Given the description of an element on the screen output the (x, y) to click on. 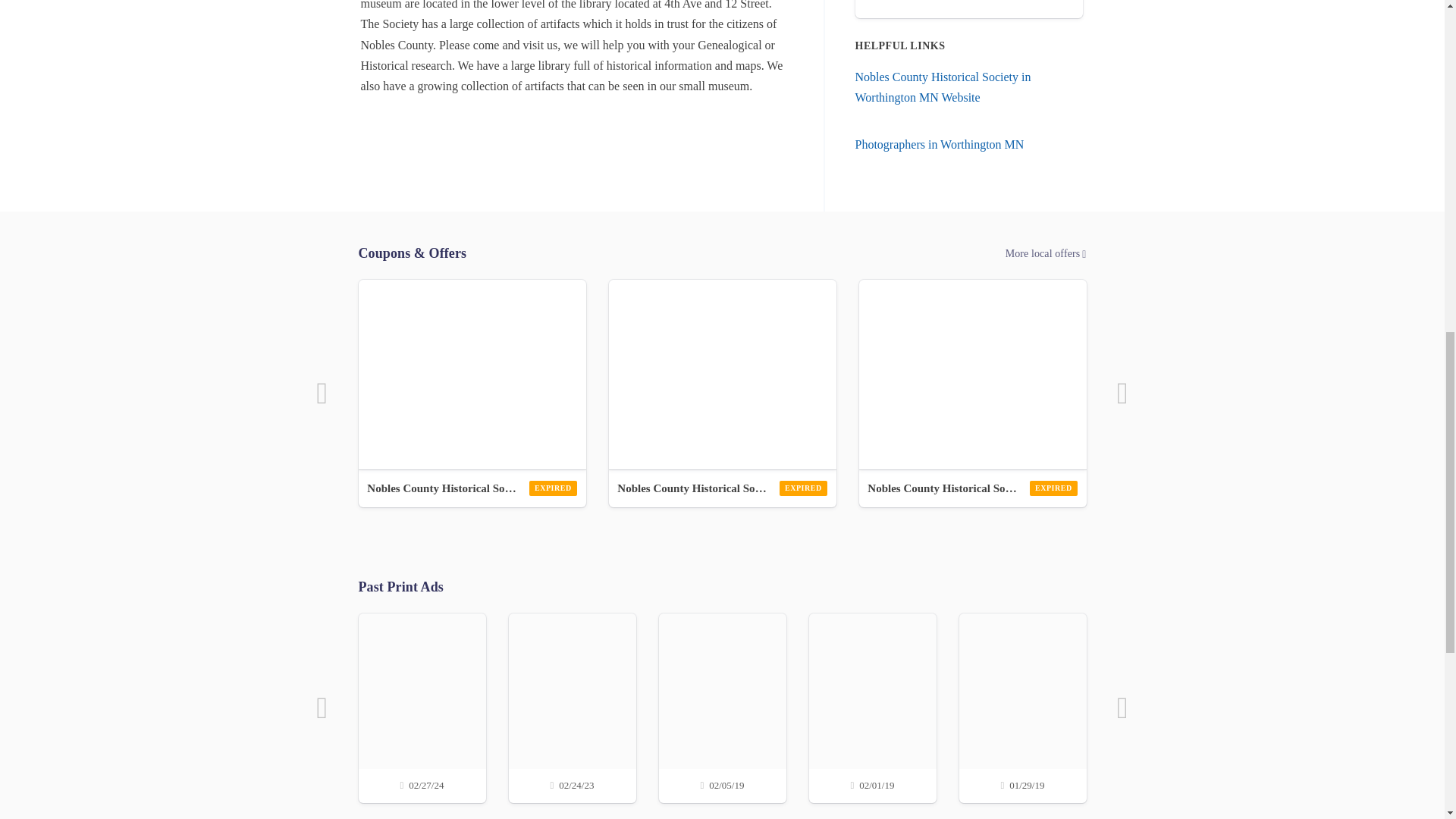
Origami Widget Number: 1938472 (471, 374)
Nobles County Historical Society in Worthington MN Website (943, 87)
Nobles County Historical Society (721, 487)
Origami widget number: 1938472 (969, 9)
Origami Widget Number: 403822 (972, 374)
Nobles County Historical Society (972, 487)
More local offers (722, 253)
Origami Widget Number: 1804133 (721, 374)
Nobles County Historical Society (471, 487)
Photographers in Worthington MN (940, 144)
